Given the description of an element on the screen output the (x, y) to click on. 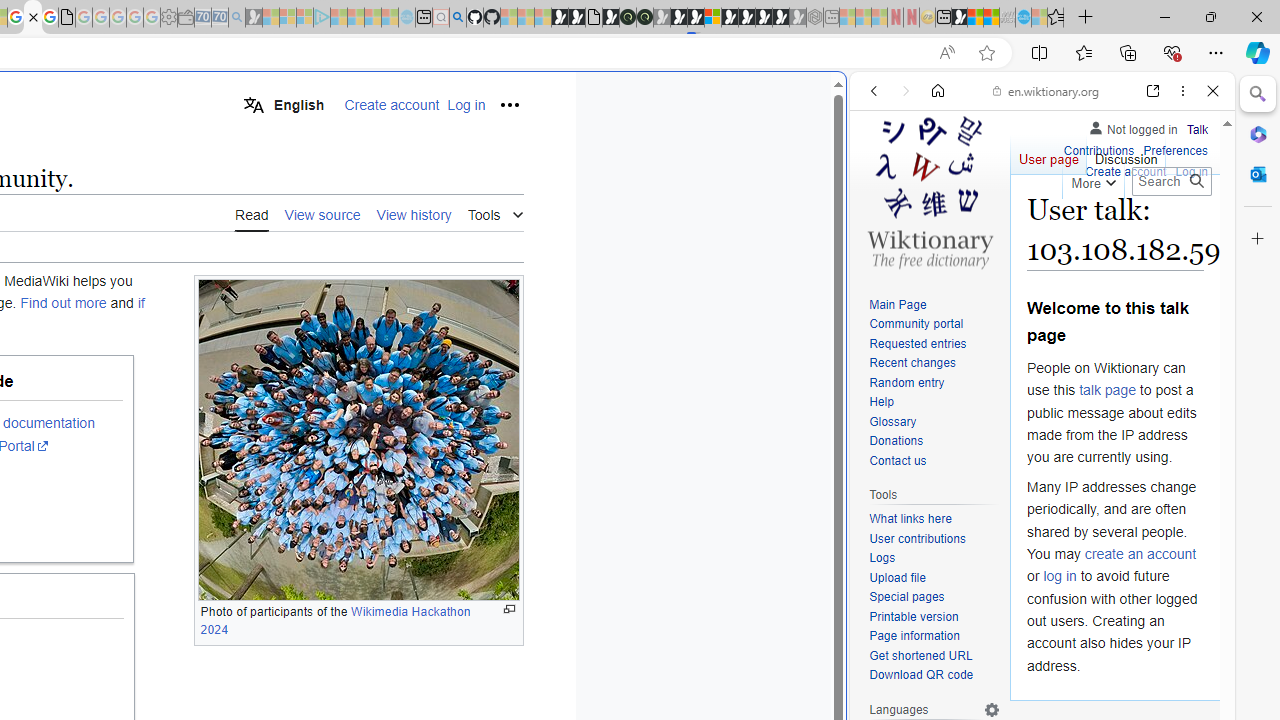
Log in (1191, 172)
View source (322, 213)
Community portal (934, 324)
Discussion (1125, 154)
Tools (495, 212)
